Given the description of an element on the screen output the (x, y) to click on. 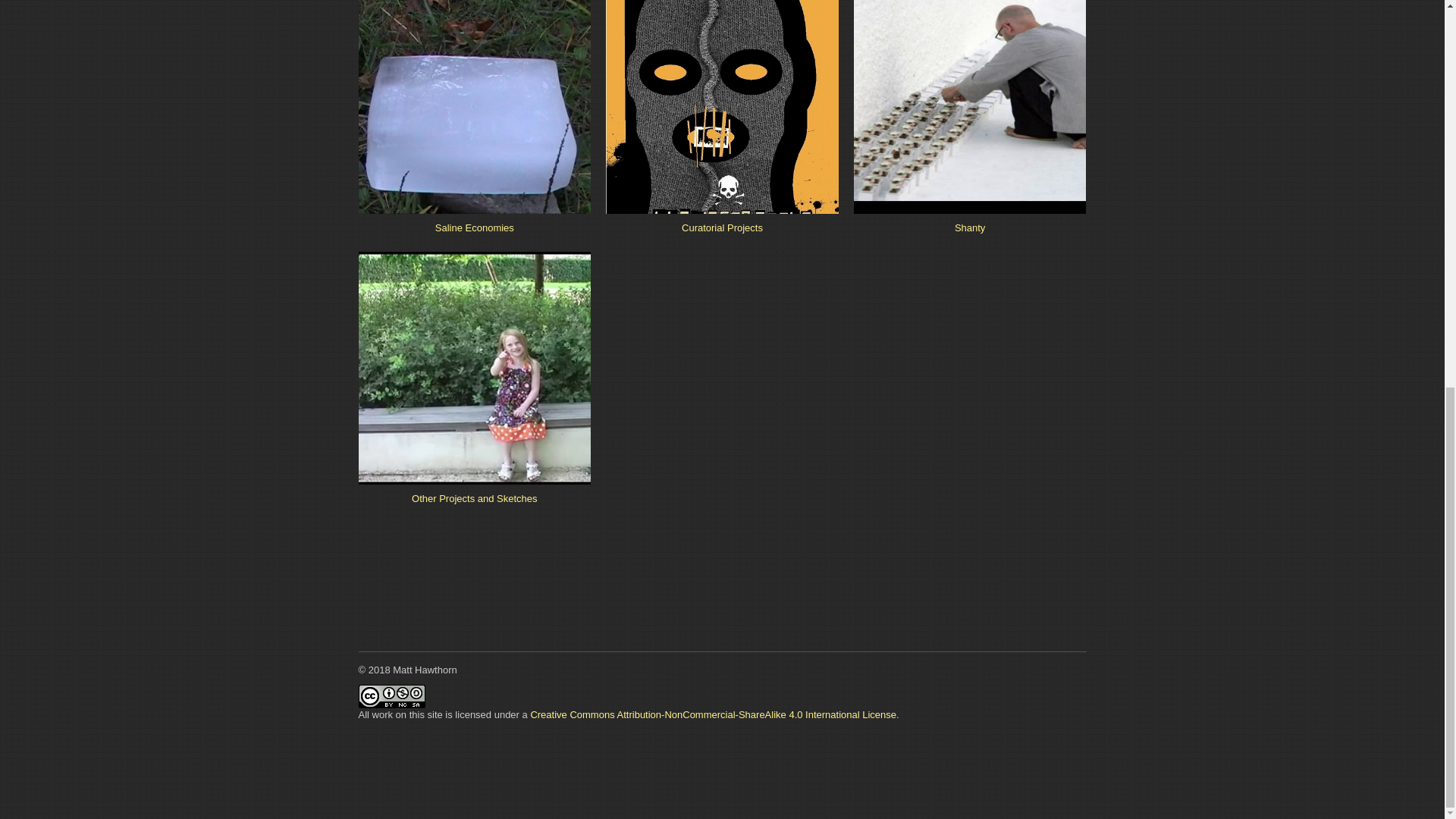
Shanty (969, 163)
Curatorial Projects (721, 163)
Other Projects and Sketches (474, 433)
Saline Economies (474, 163)
